Given the description of an element on the screen output the (x, y) to click on. 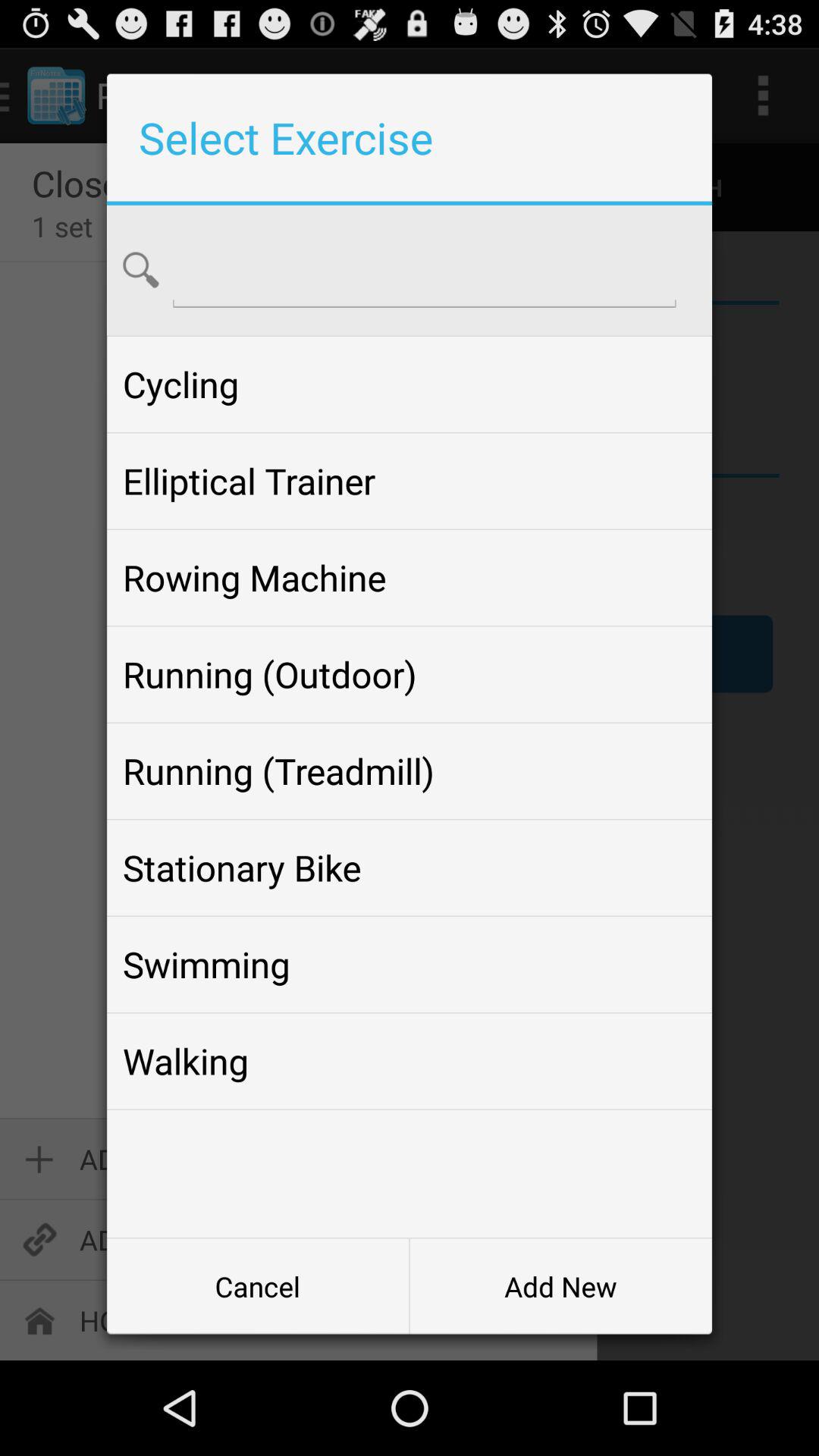
choose icon below the running (outdoor) icon (409, 771)
